Given the description of an element on the screen output the (x, y) to click on. 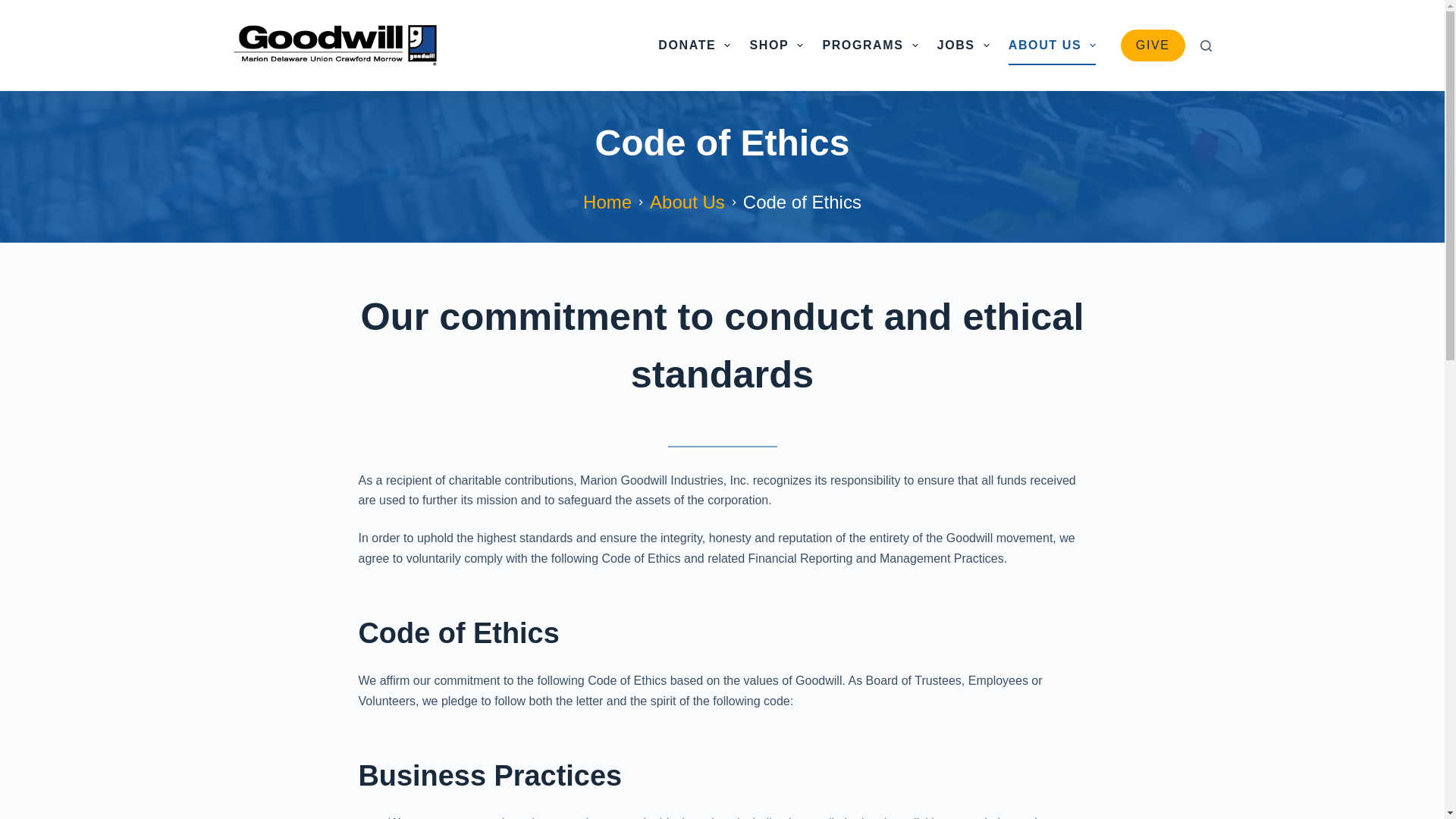
Skip to content (15, 7)
Code of Ethics (722, 143)
